Given the description of an element on the screen output the (x, y) to click on. 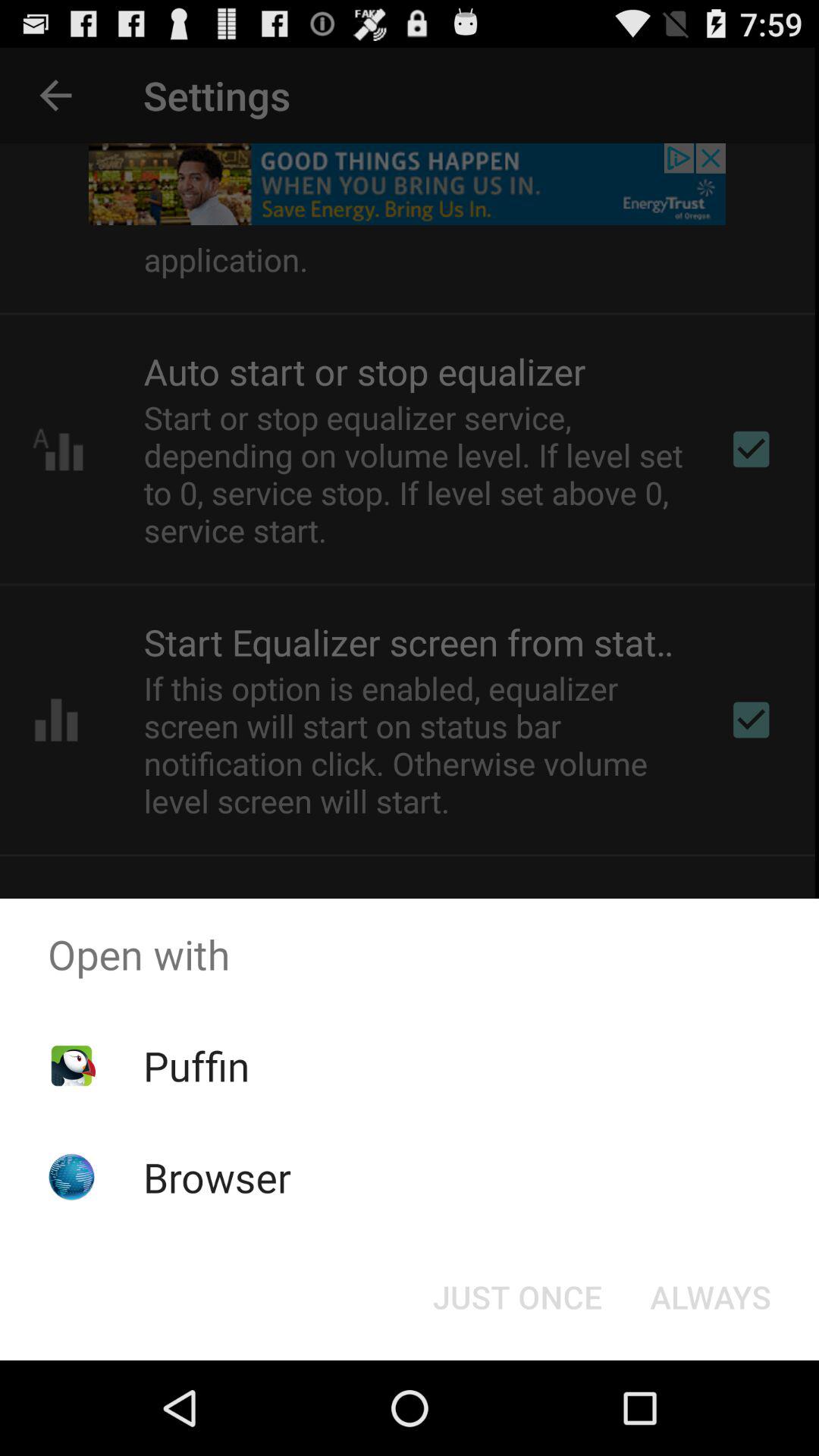
select app below the open with icon (710, 1296)
